Given the description of an element on the screen output the (x, y) to click on. 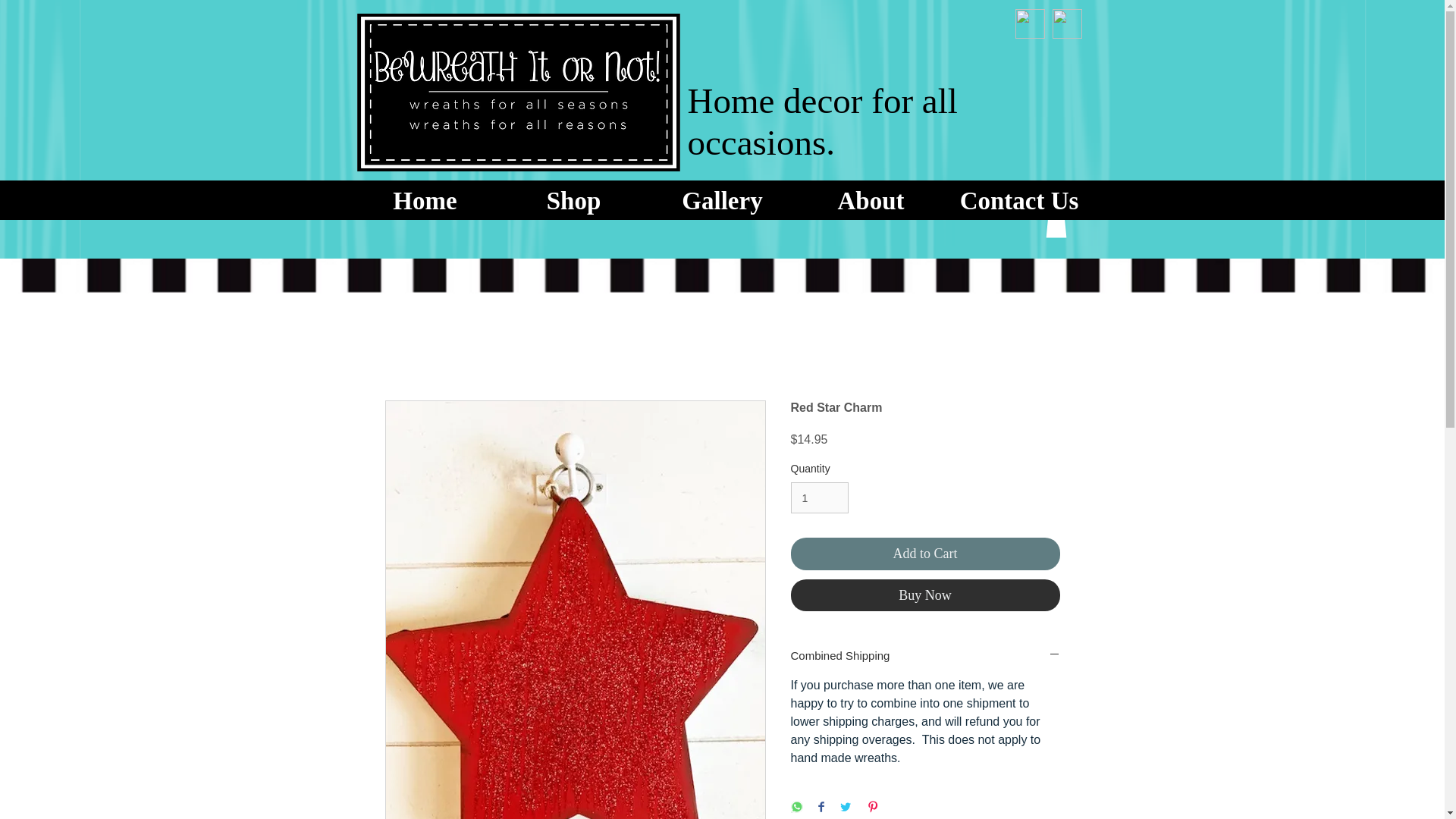
1 (818, 497)
Buy Now (924, 594)
Gallery (721, 197)
Contact Us (1018, 197)
Combined Shipping (924, 655)
About (870, 197)
Home (424, 197)
Add to Cart (924, 553)
